Given the description of an element on the screen output the (x, y) to click on. 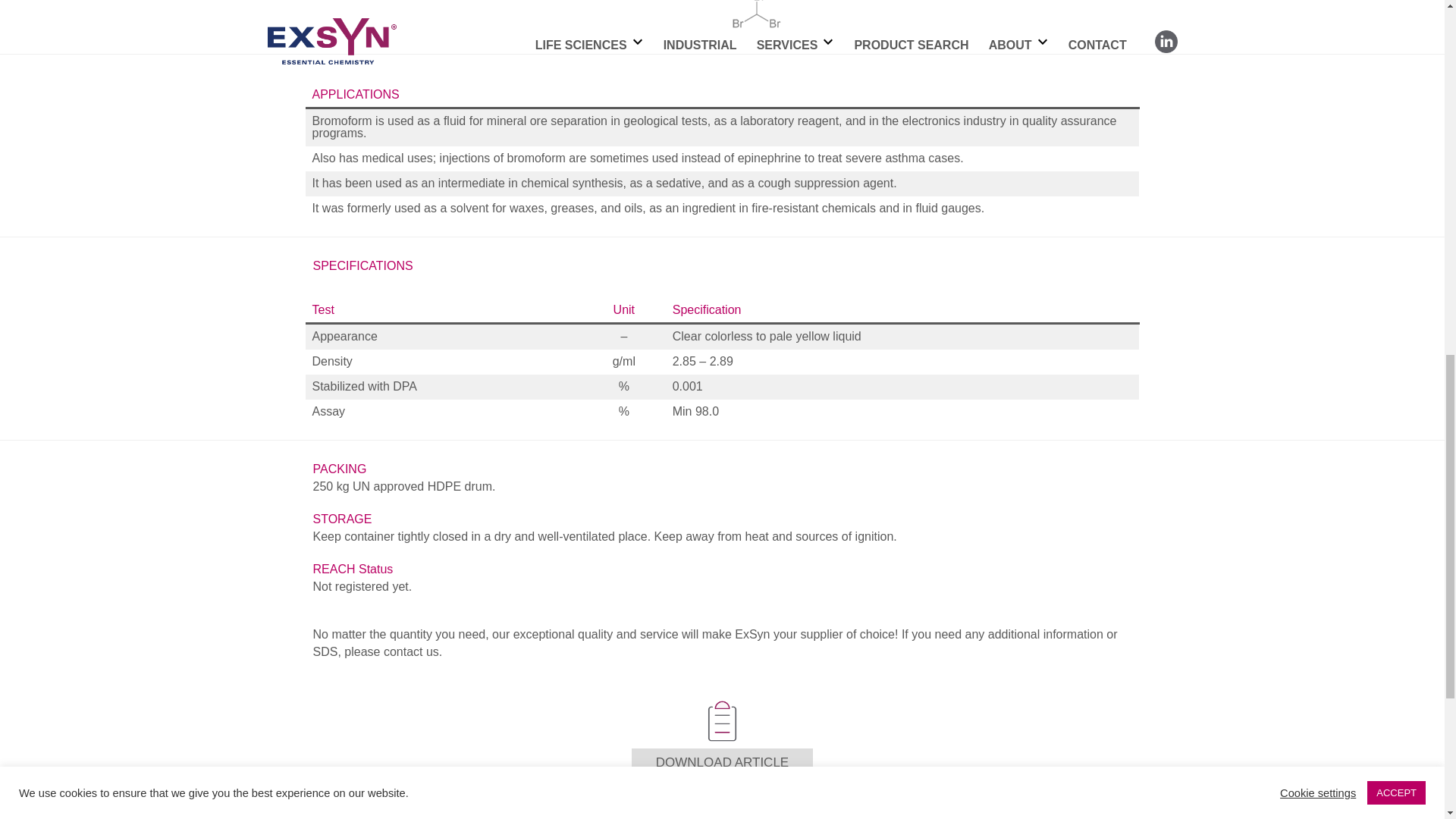
DOWNLOAD ARTICLE (721, 762)
